Given the description of an element on the screen output the (x, y) to click on. 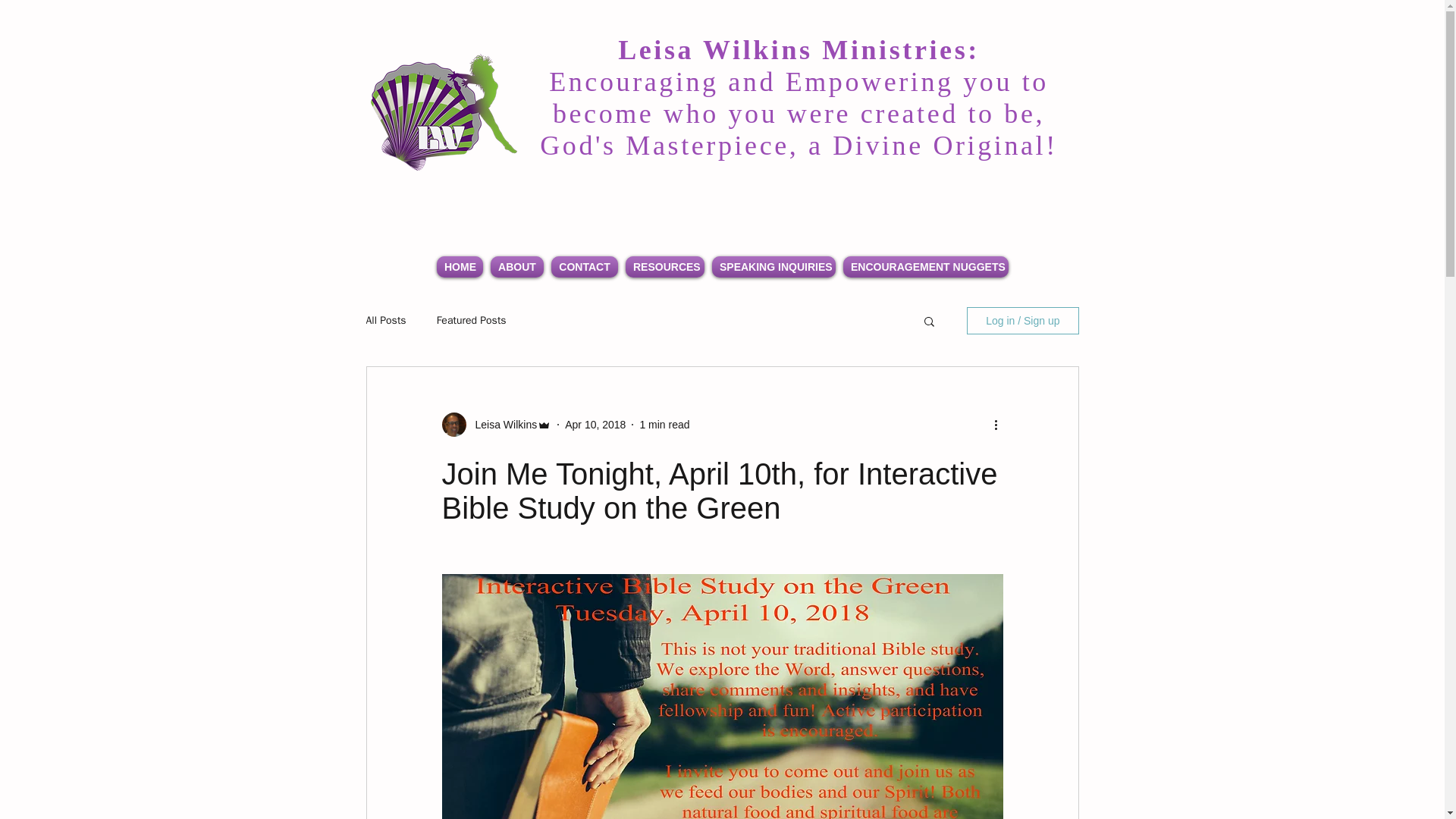
1 min read (663, 424)
RESOURCES (664, 266)
ABOUT (516, 266)
SPEAKING INQUIRIES (773, 266)
Featured Posts (471, 320)
HOME (459, 266)
Apr 10, 2018 (595, 424)
Leisa Wilkins (501, 424)
Leisa Wilkins Ministries (444, 115)
ENCOURAGEMENT NUGGETS (925, 266)
CONTACT (584, 266)
All Posts (385, 320)
